Given the description of an element on the screen output the (x, y) to click on. 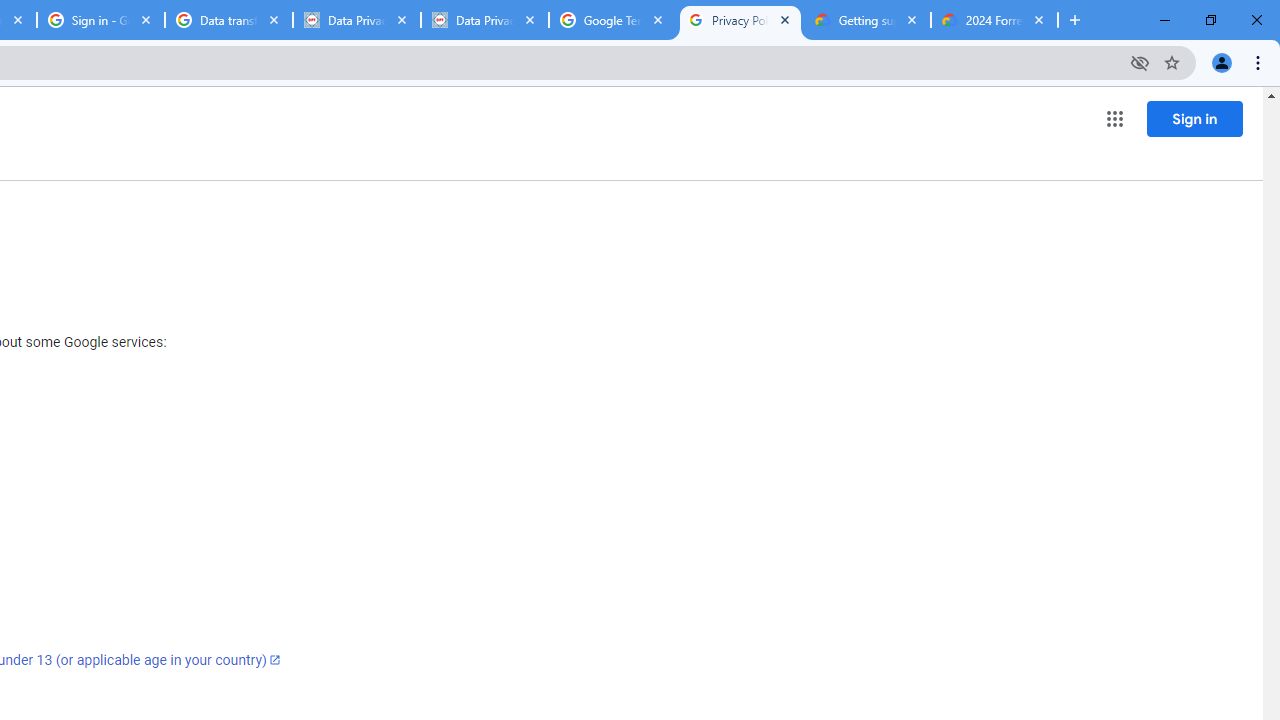
Data Privacy Framework (485, 20)
Google apps (1114, 118)
Data Privacy Framework (357, 20)
